Given the description of an element on the screen output the (x, y) to click on. 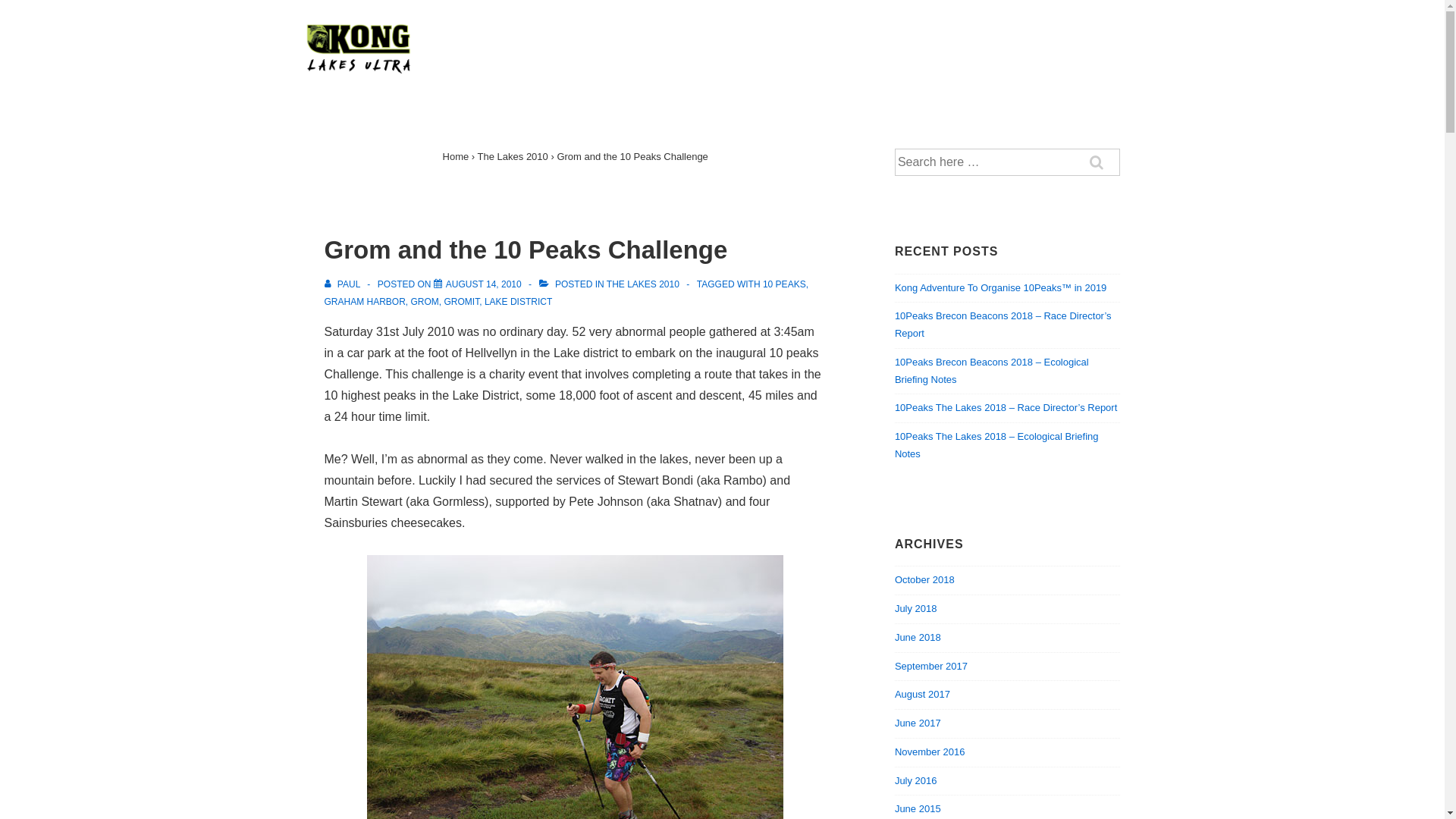
June 2015 Element type: text (917, 808)
September 2017 Element type: text (930, 665)
GRAHAM HARBOR Element type: text (364, 301)
Home Element type: text (455, 156)
July 2016 Element type: text (915, 780)
LAKE DISTRICT Element type: text (518, 301)
The Lakes 2010 Element type: text (512, 156)
THE LAKES 2010 Element type: text (642, 284)
July 2018 Element type: text (915, 608)
November 2016 Element type: text (929, 751)
June 2017 Element type: text (917, 722)
August 2017 Element type: text (922, 693)
PAUL Element type: text (343, 284)
June 2018 Element type: text (917, 637)
AUGUST 14, 2010 Element type: text (483, 284)
GROM Element type: text (425, 301)
10 PEAKS Element type: text (784, 284)
GROMIT Element type: text (462, 301)
October 2018 Element type: text (924, 579)
